Given the description of an element on the screen output the (x, y) to click on. 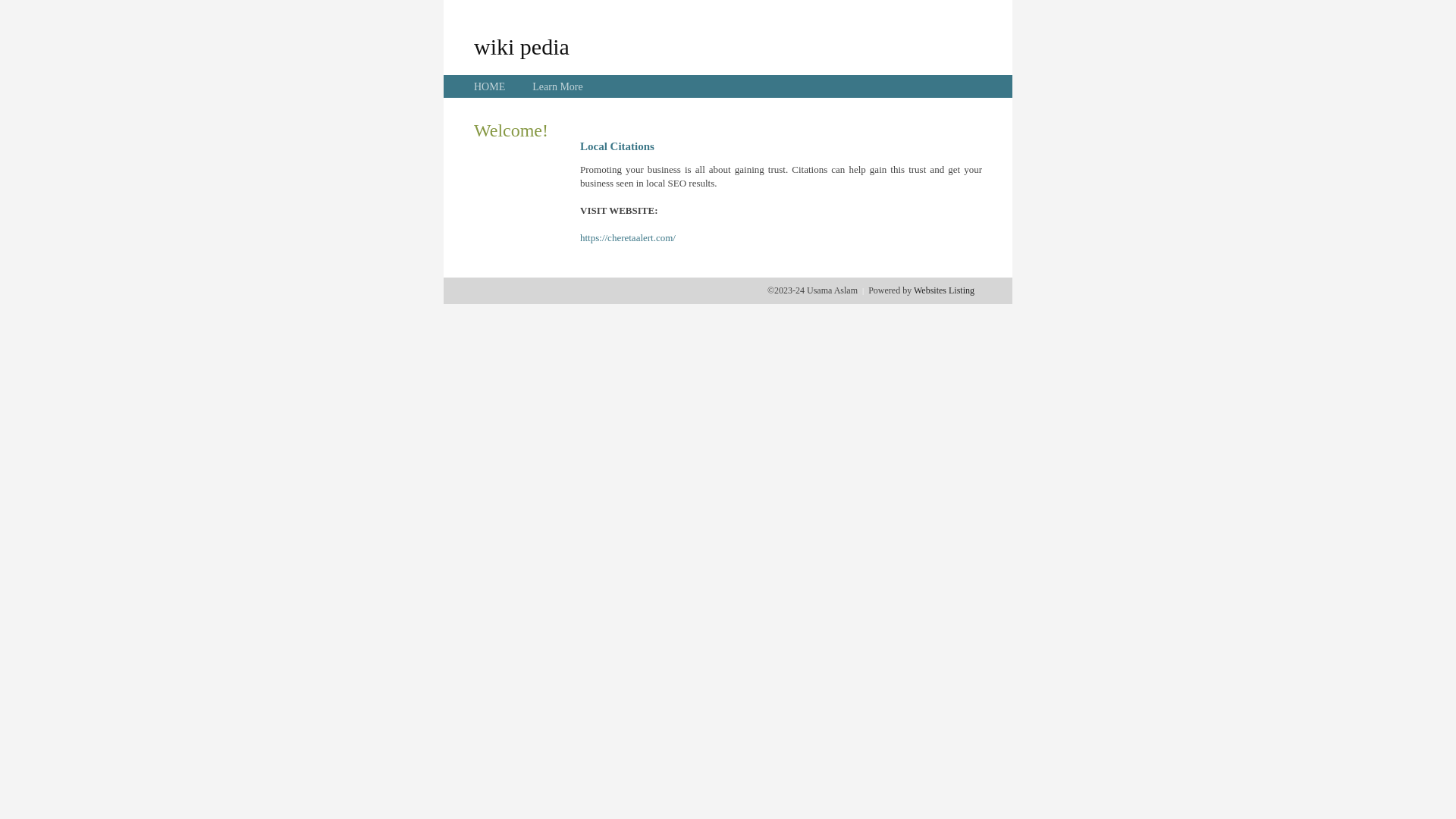
Websites Listing Element type: text (943, 290)
Learn More Element type: text (557, 86)
HOME Element type: text (489, 86)
https://cheretaalert.com/ Element type: text (627, 237)
wiki pedia Element type: text (521, 46)
